Given the description of an element on the screen output the (x, y) to click on. 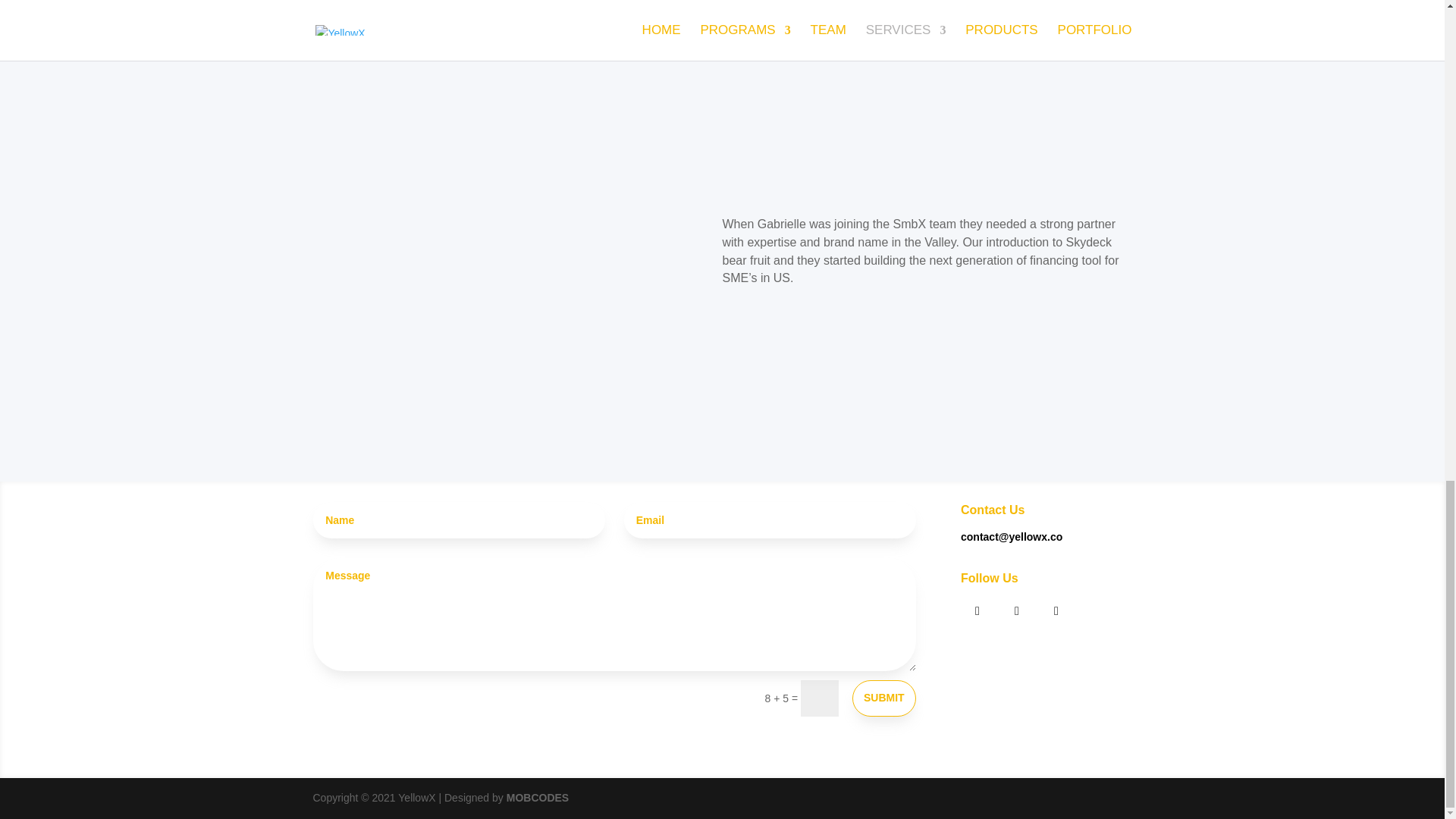
SUBMIT (883, 698)
Follow on Instagram (1056, 611)
naturansa (619, 53)
Follow on LinkedIn (977, 611)
Follow on Twitter (1016, 611)
MOBCODES (537, 797)
